Given the description of an element on the screen output the (x, y) to click on. 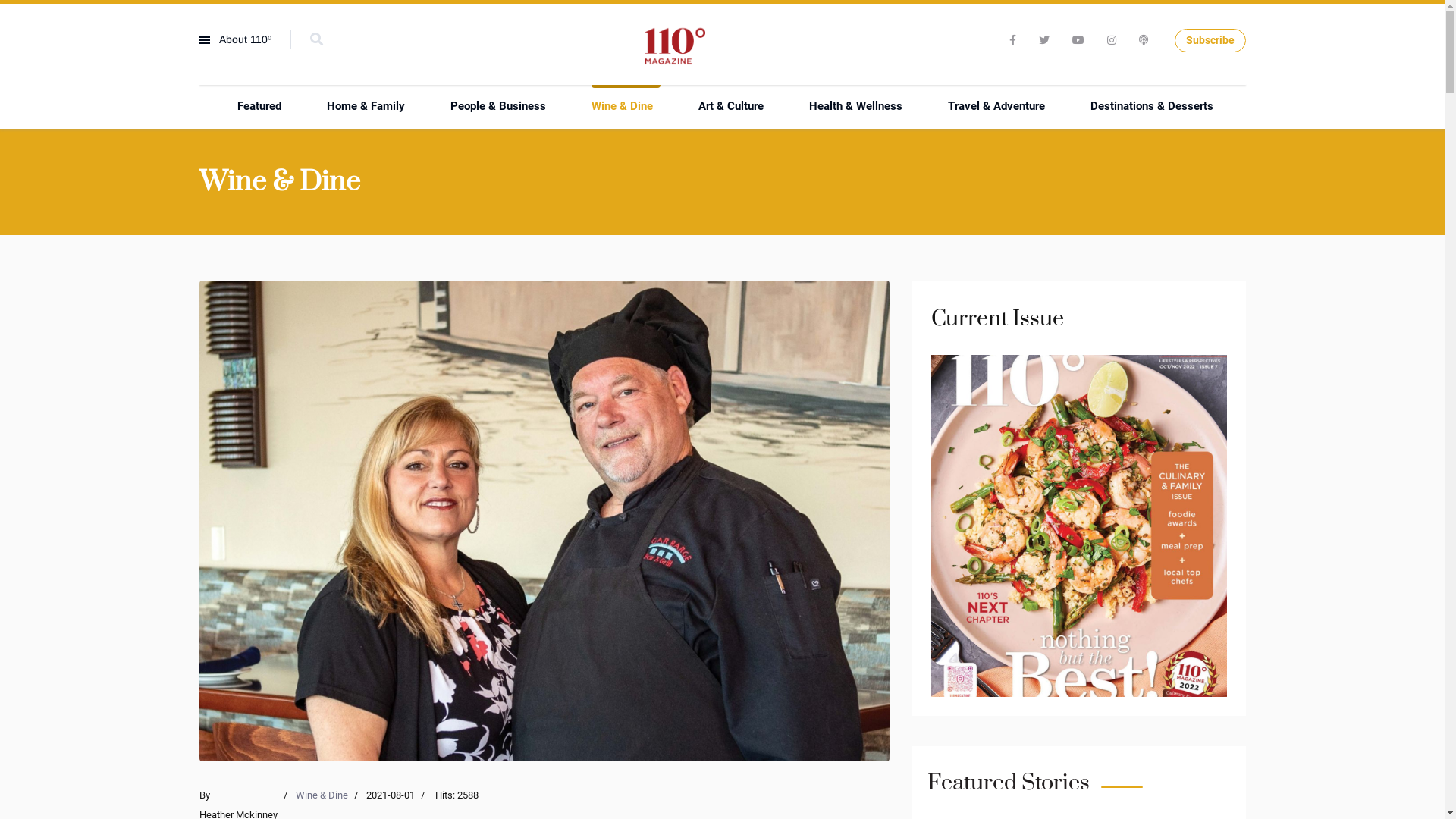
Subscribe Element type: text (1209, 40)
Home & Family Element type: text (368, 105)
People & Business Element type: text (501, 105)
Destinations & Desserts Element type: text (1155, 105)
Wine & Dine Element type: text (625, 105)
Featured Element type: text (262, 105)
Health & Wellness Element type: text (858, 105)
Current Issue Element type: hover (1078, 525)
Art & Culture Element type: text (733, 105)
Travel & Adventure Element type: text (999, 105)
Wine & Dine Element type: text (321, 794)
